Given the description of an element on the screen output the (x, y) to click on. 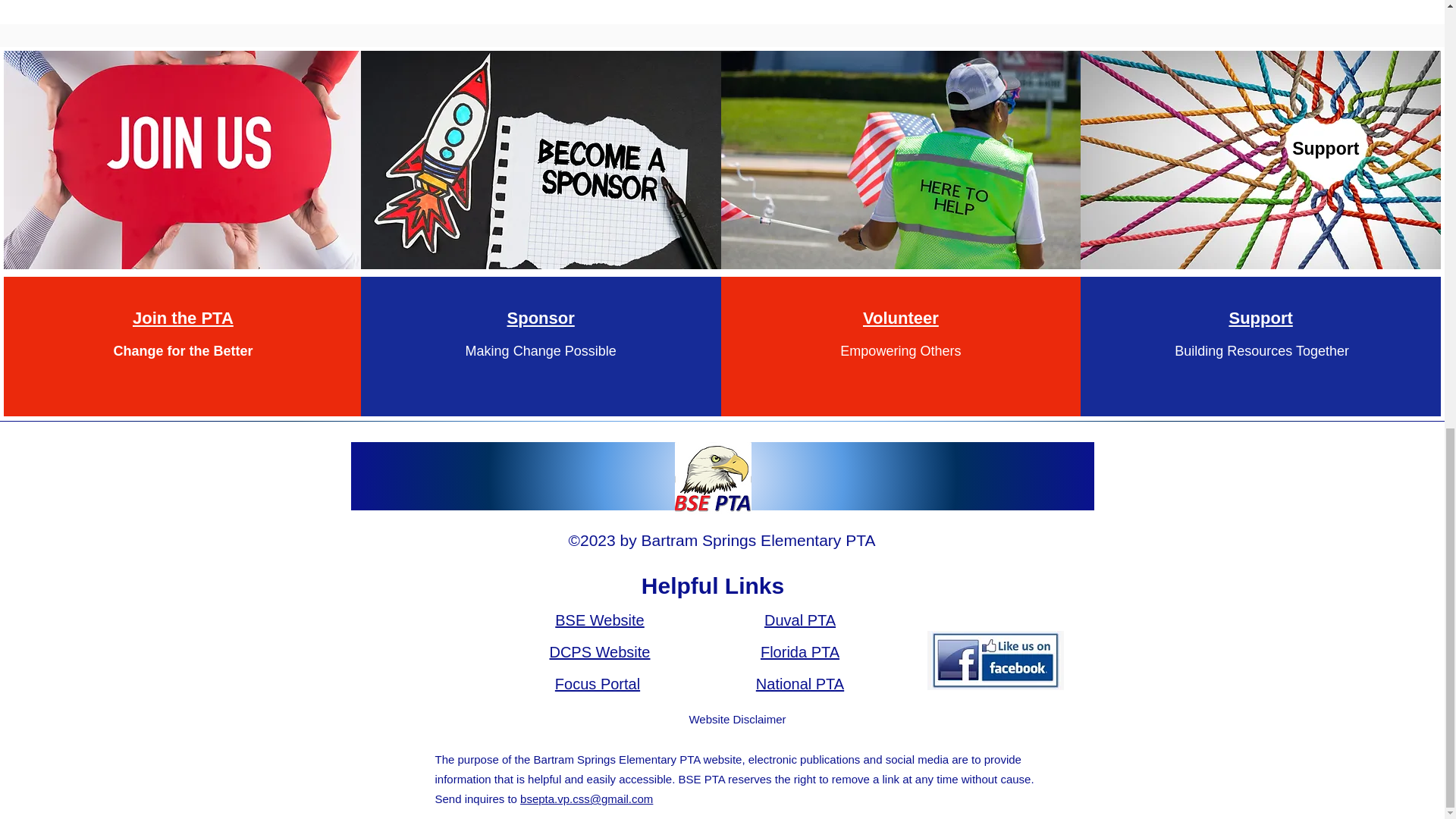
Focus Portal (597, 683)
Volunteer (901, 316)
DCPS Website (598, 651)
Florida PTA (800, 651)
BSE Website (598, 619)
Duval PTA (799, 619)
Join the PTA (182, 316)
Sponsor (540, 316)
Support (1260, 316)
National PTA (799, 683)
